Given the description of an element on the screen output the (x, y) to click on. 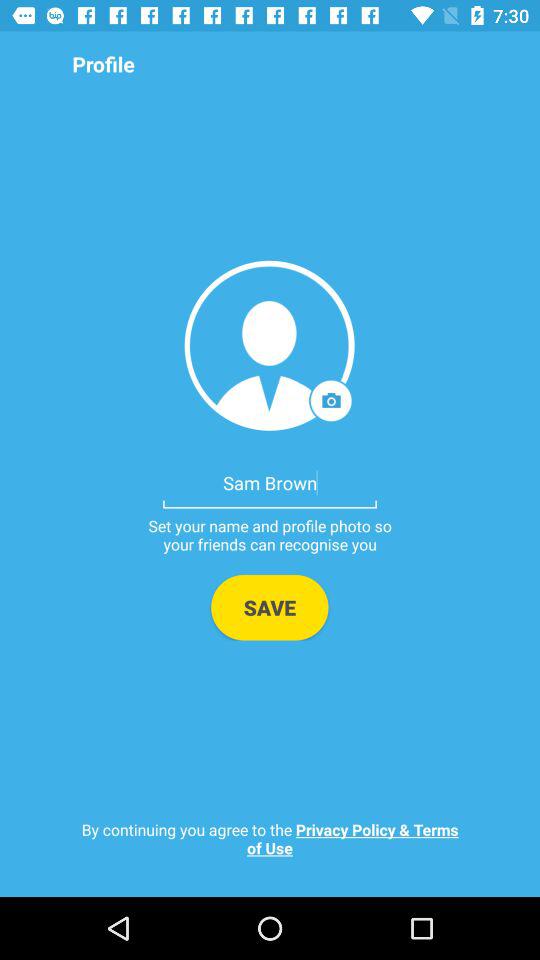
swipe until the save item (269, 607)
